Given the description of an element on the screen output the (x, y) to click on. 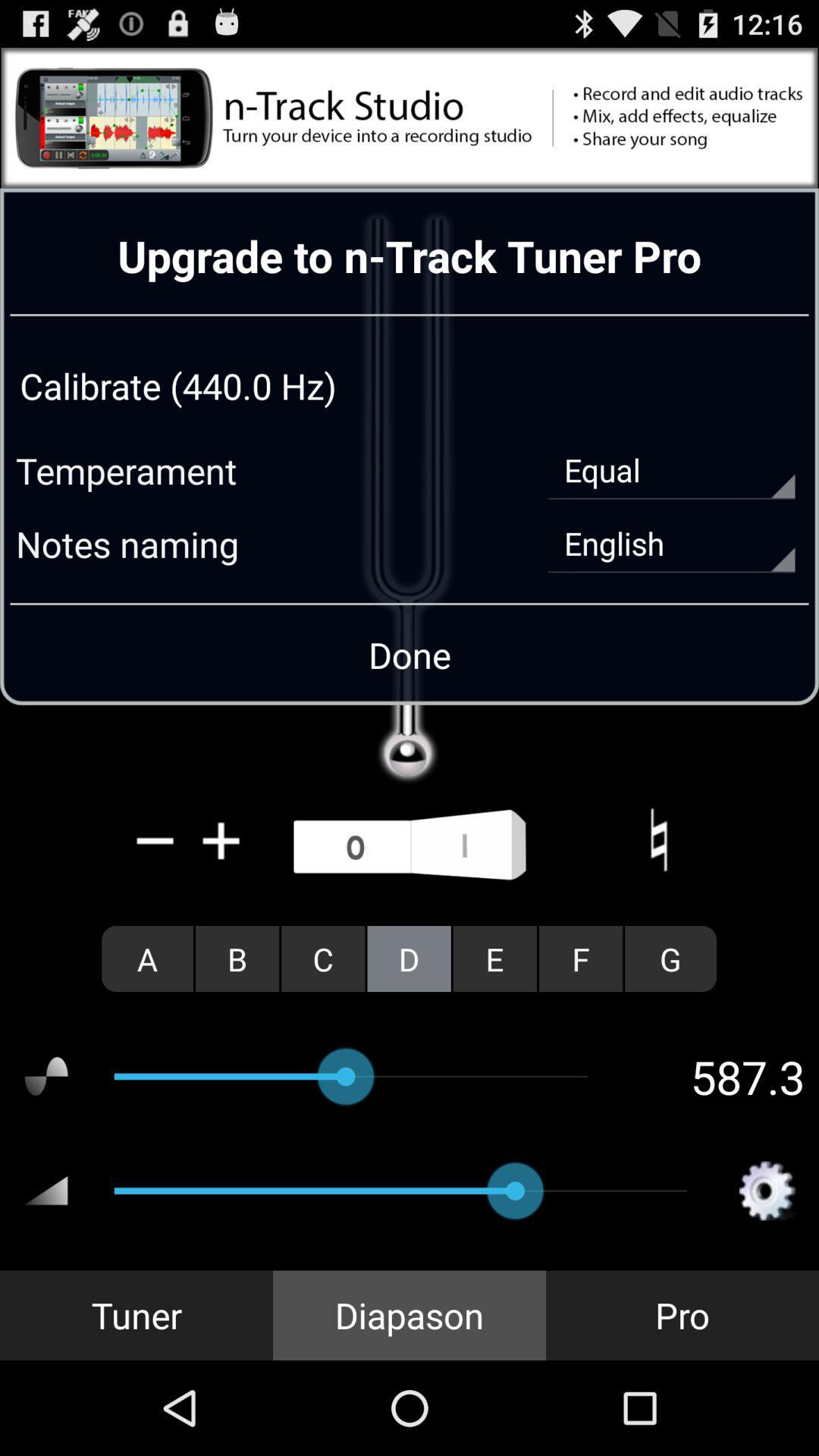
select radio button to the left of the e (409, 958)
